Given the description of an element on the screen output the (x, y) to click on. 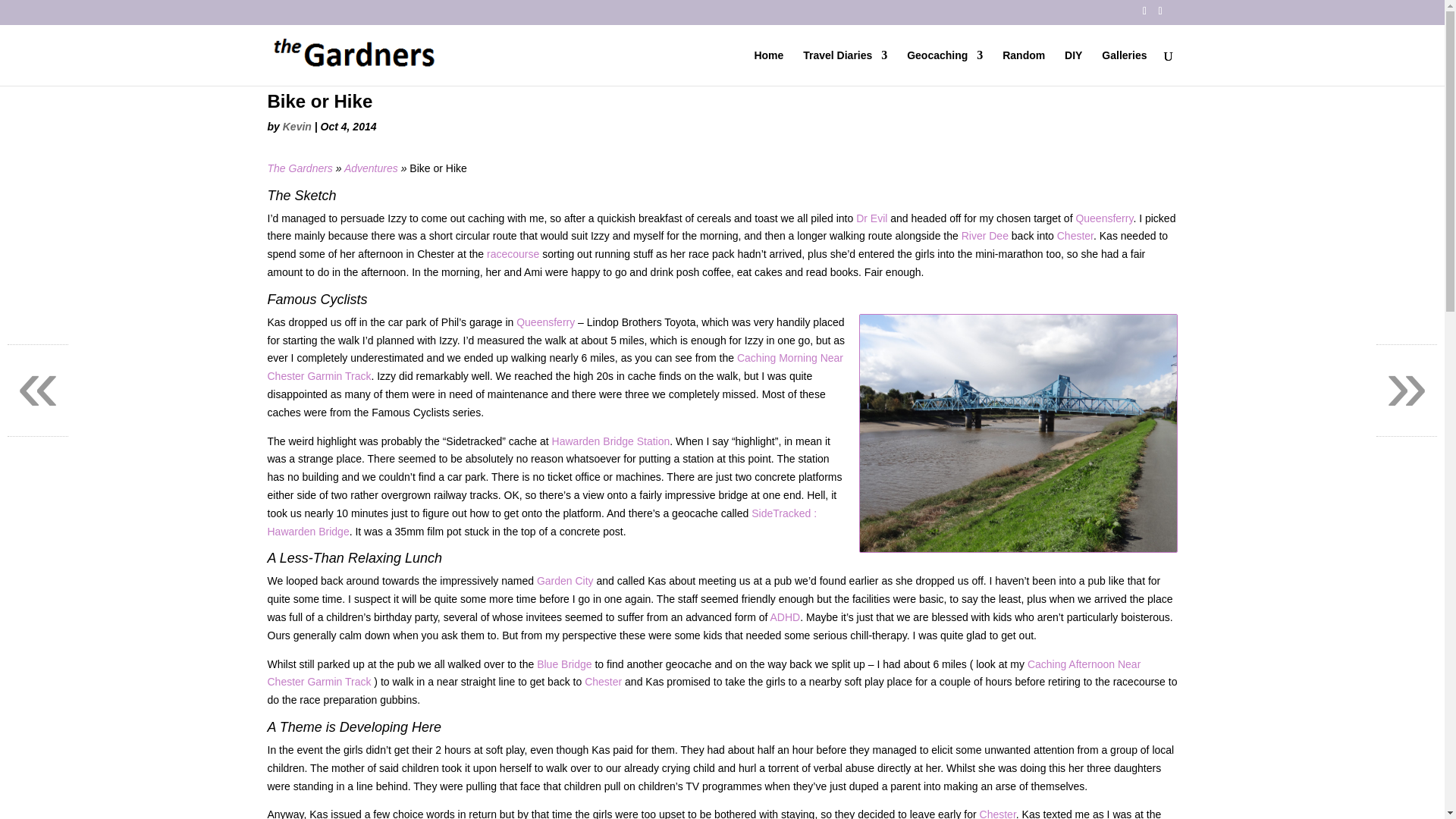
River Dee (984, 235)
The Gardners (298, 168)
Kevin (296, 126)
Adventures (370, 168)
Home (768, 67)
Chester (1075, 235)
Posts by Kevin (296, 126)
Geocaching (944, 67)
DIY (1072, 67)
Random (1024, 67)
Travel Diaries (844, 67)
racecourse (512, 254)
Galleries (1124, 67)
Dr Evil (871, 218)
Queensferry (1103, 218)
